Given the description of an element on the screen output the (x, y) to click on. 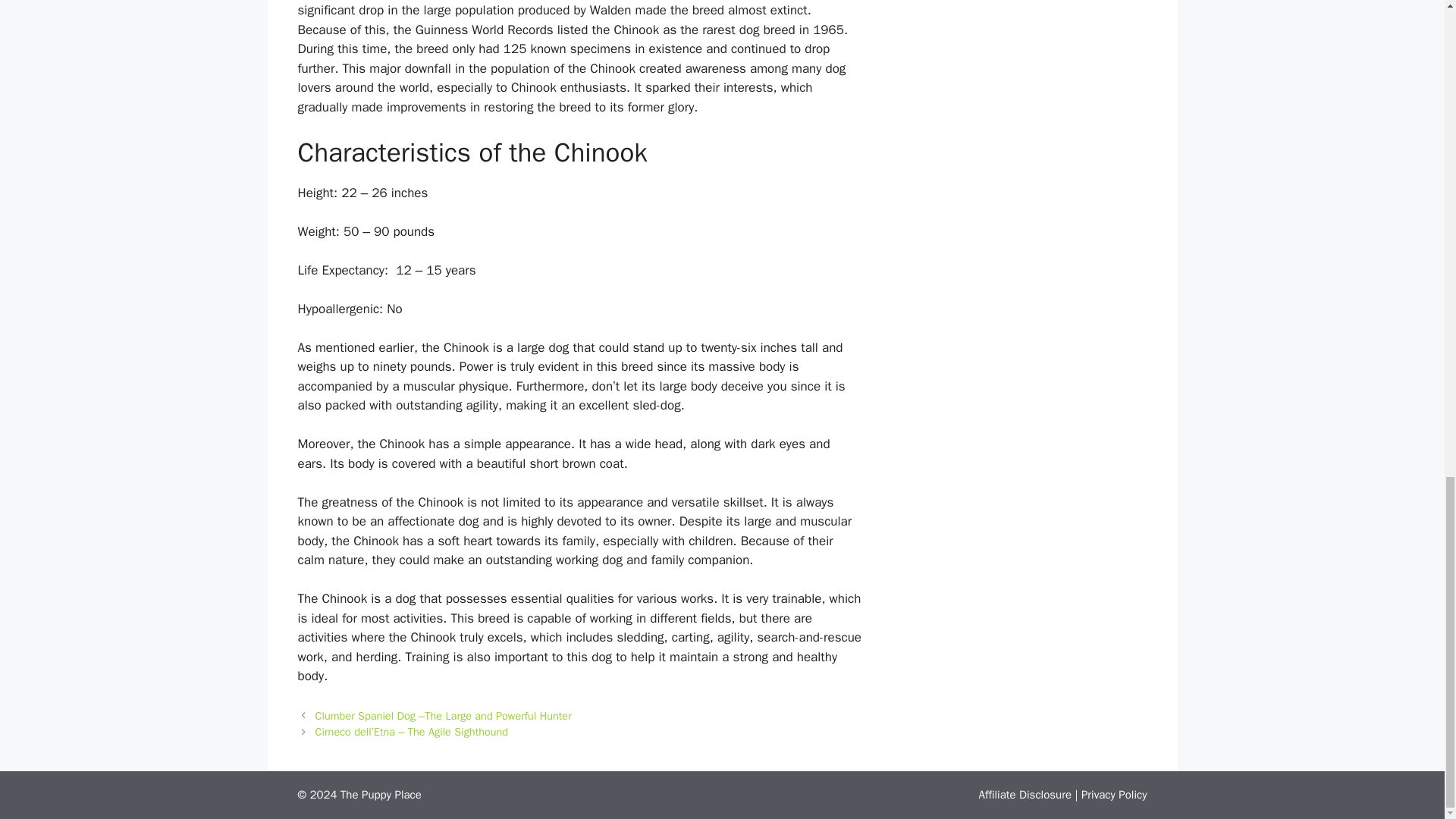
Privacy Policy (1114, 794)
Affiliate Disclosure (1024, 794)
